Given the description of an element on the screen output the (x, y) to click on. 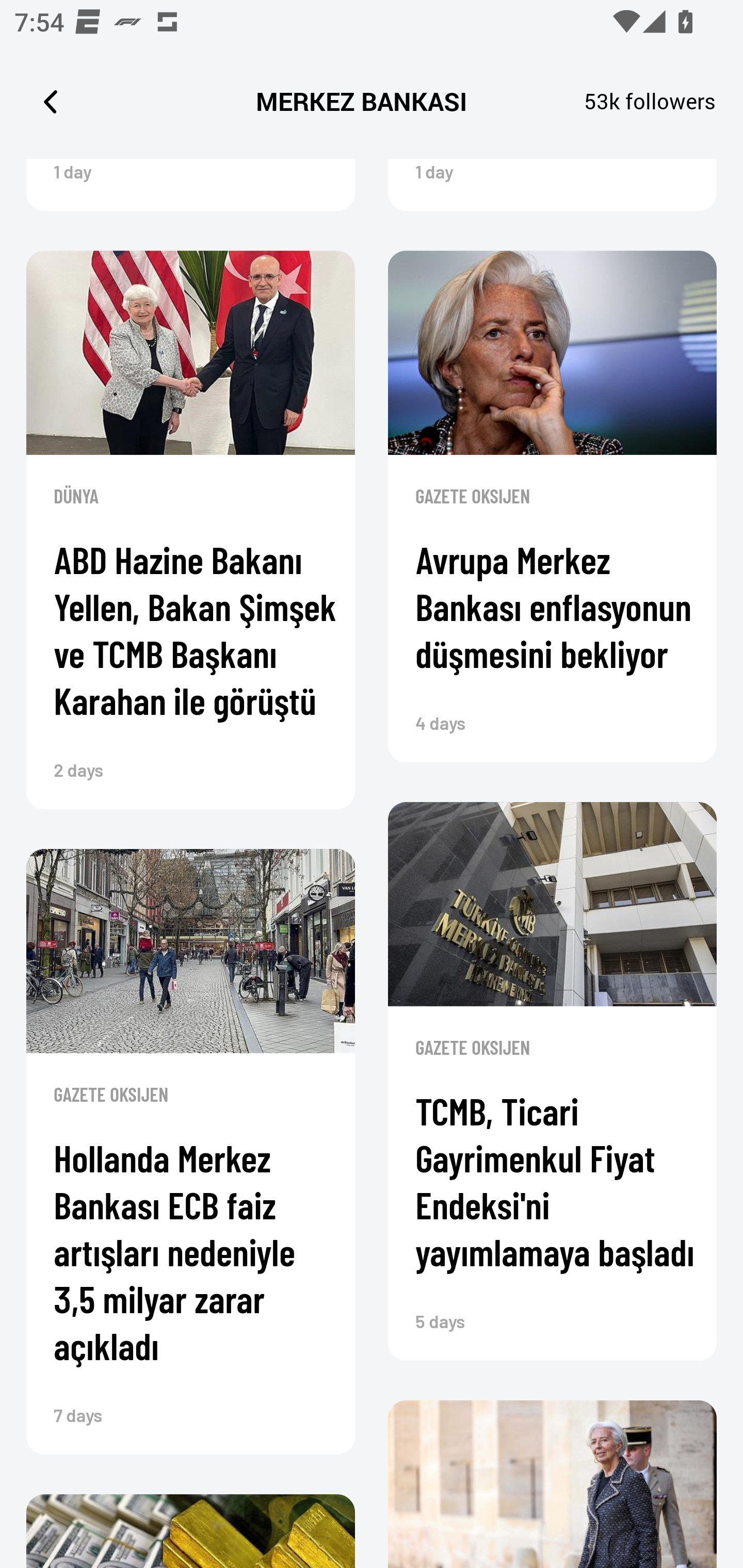
Leading Icon (50, 101)
